Given the description of an element on the screen output the (x, y) to click on. 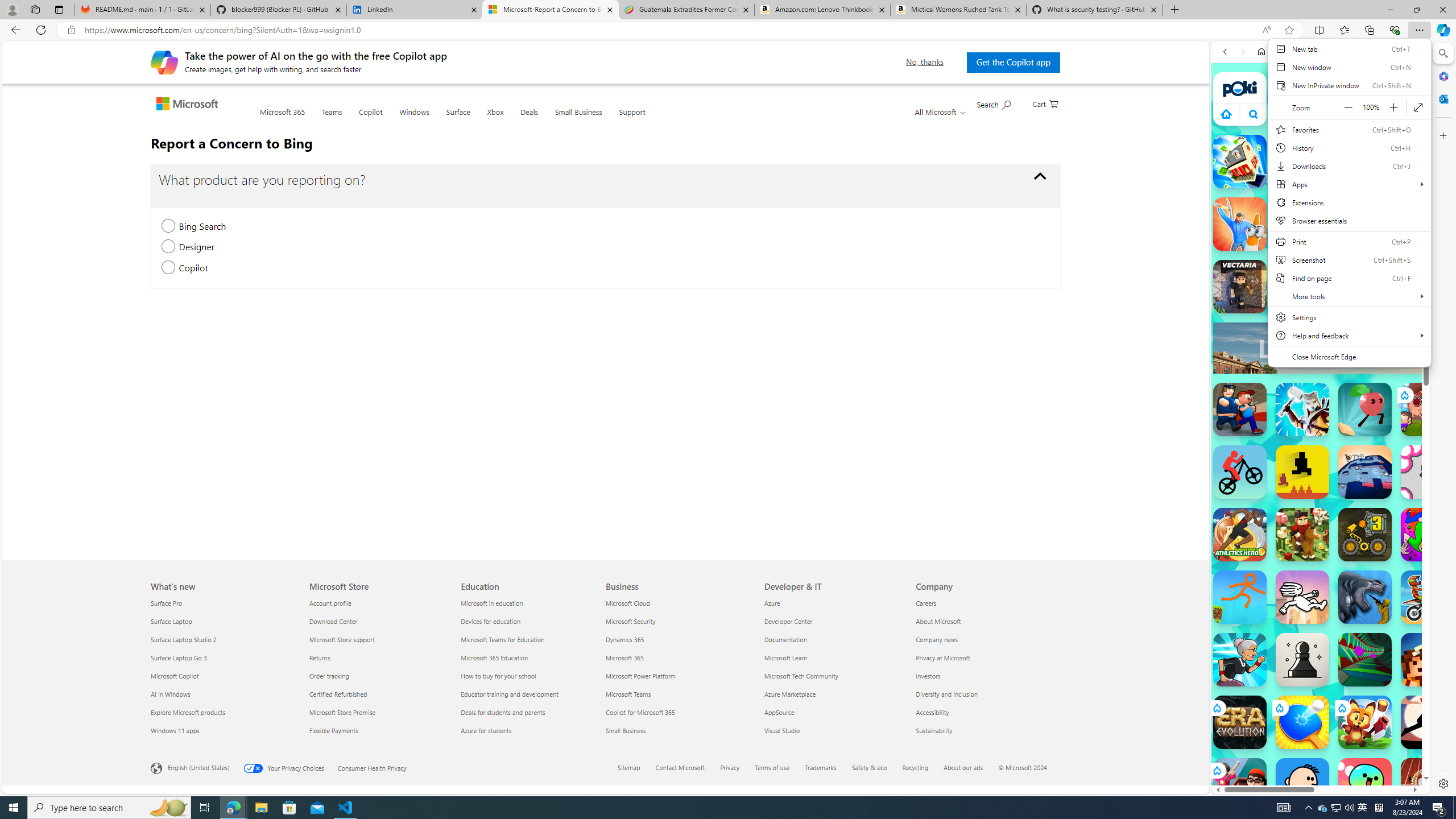
Show More Car Games (1390, 268)
Zoom in (Ctrl+Plus key) (1393, 107)
Show More Shooting Games (1390, 296)
Enter full screen (F11) (1418, 107)
Small Business (678, 730)
Sustainability Company (933, 729)
